Given the description of an element on the screen output the (x, y) to click on. 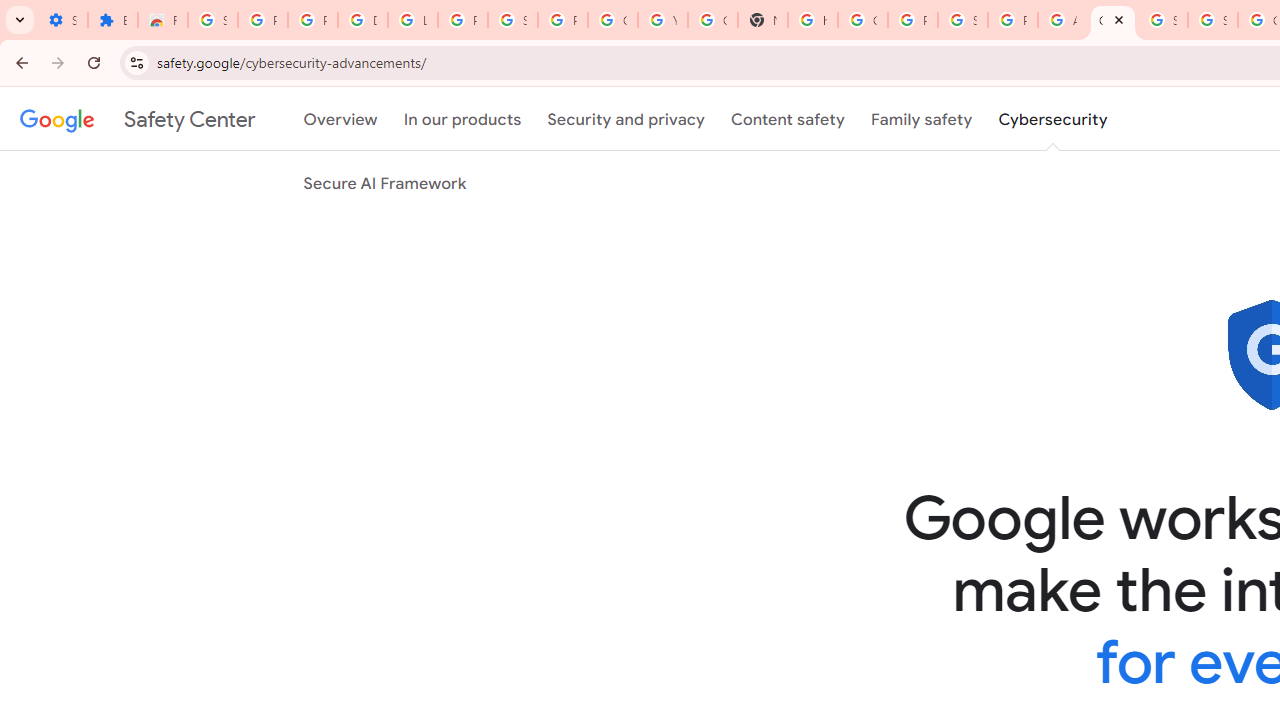
Sign in - Google Accounts (512, 20)
Content safety (787, 119)
Security and privacy (626, 119)
Learn how to find your photos - Google Photos Help (412, 20)
Family safety (921, 119)
Safety Center (137, 119)
New Tab (763, 20)
In our products (462, 119)
Cybersecurity (1053, 119)
